Given the description of an element on the screen output the (x, y) to click on. 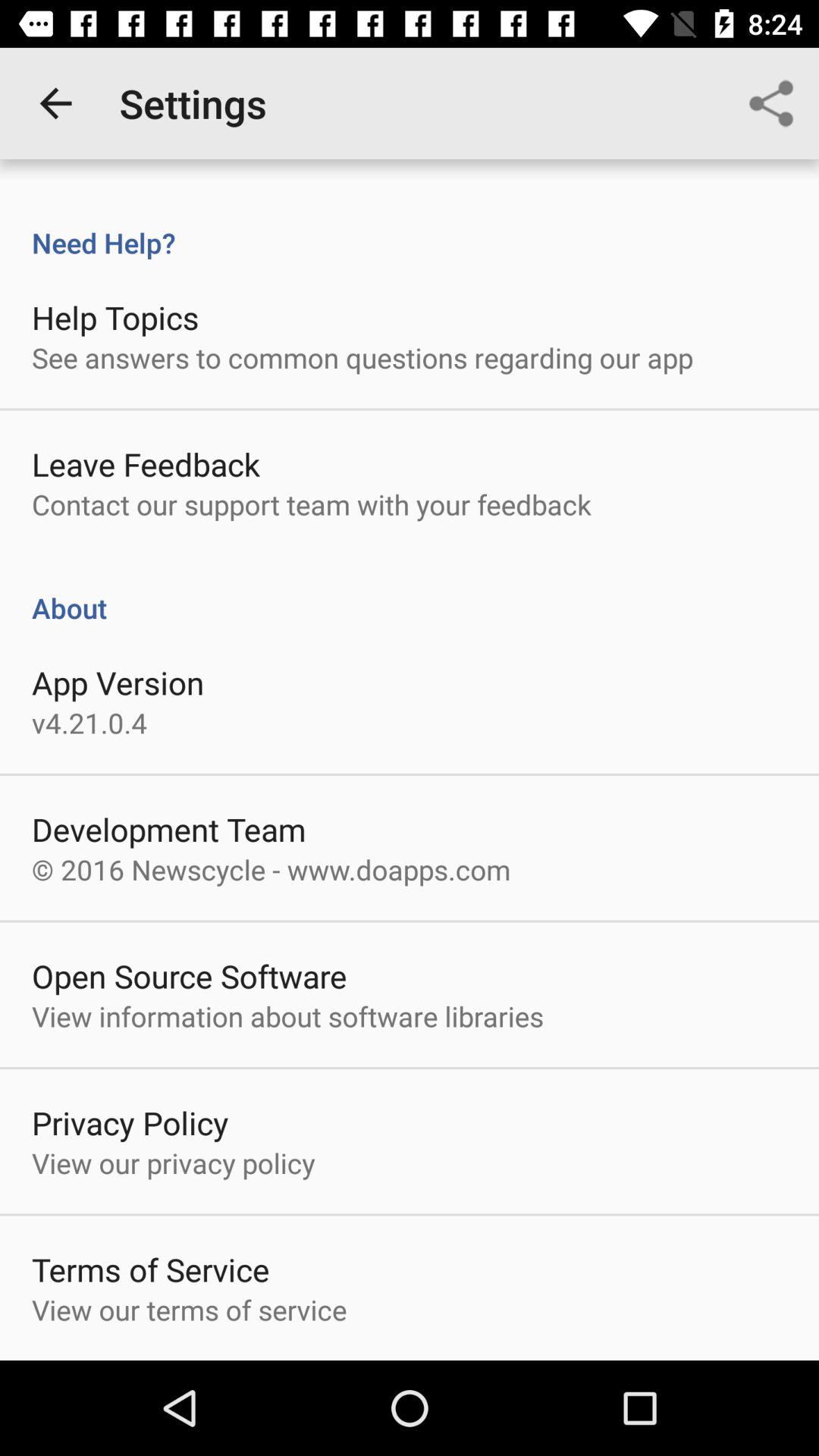
choose icon above need help? icon (55, 103)
